Given the description of an element on the screen output the (x, y) to click on. 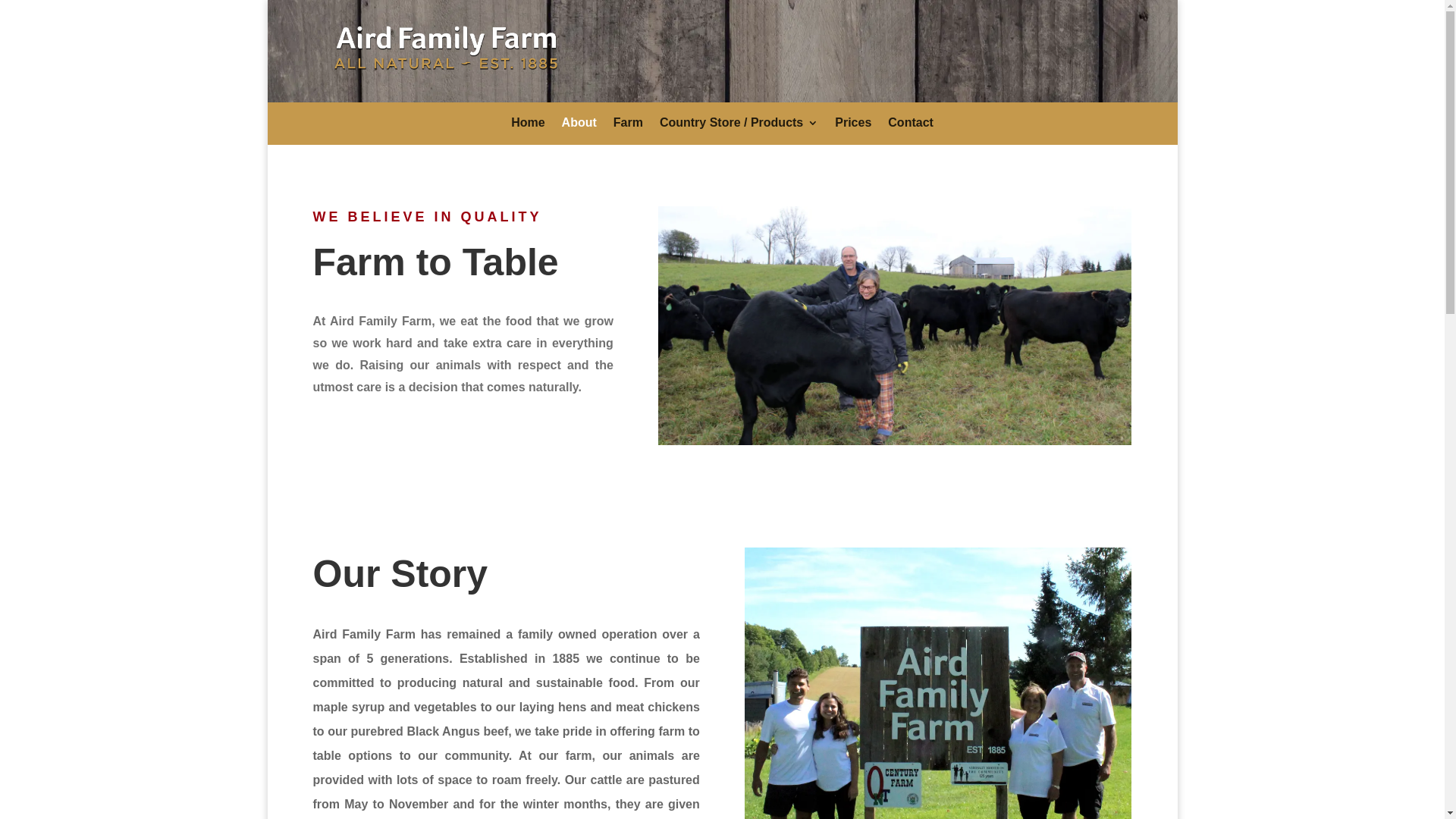
Prices Element type: text (852, 129)
Country Store / Products Element type: text (738, 129)
Farm Element type: text (628, 129)
Contact Element type: text (910, 129)
Home Element type: text (527, 129)
aird-farm-table-1280px Element type: hover (894, 325)
About Element type: text (578, 129)
